Given the description of an element on the screen output the (x, y) to click on. 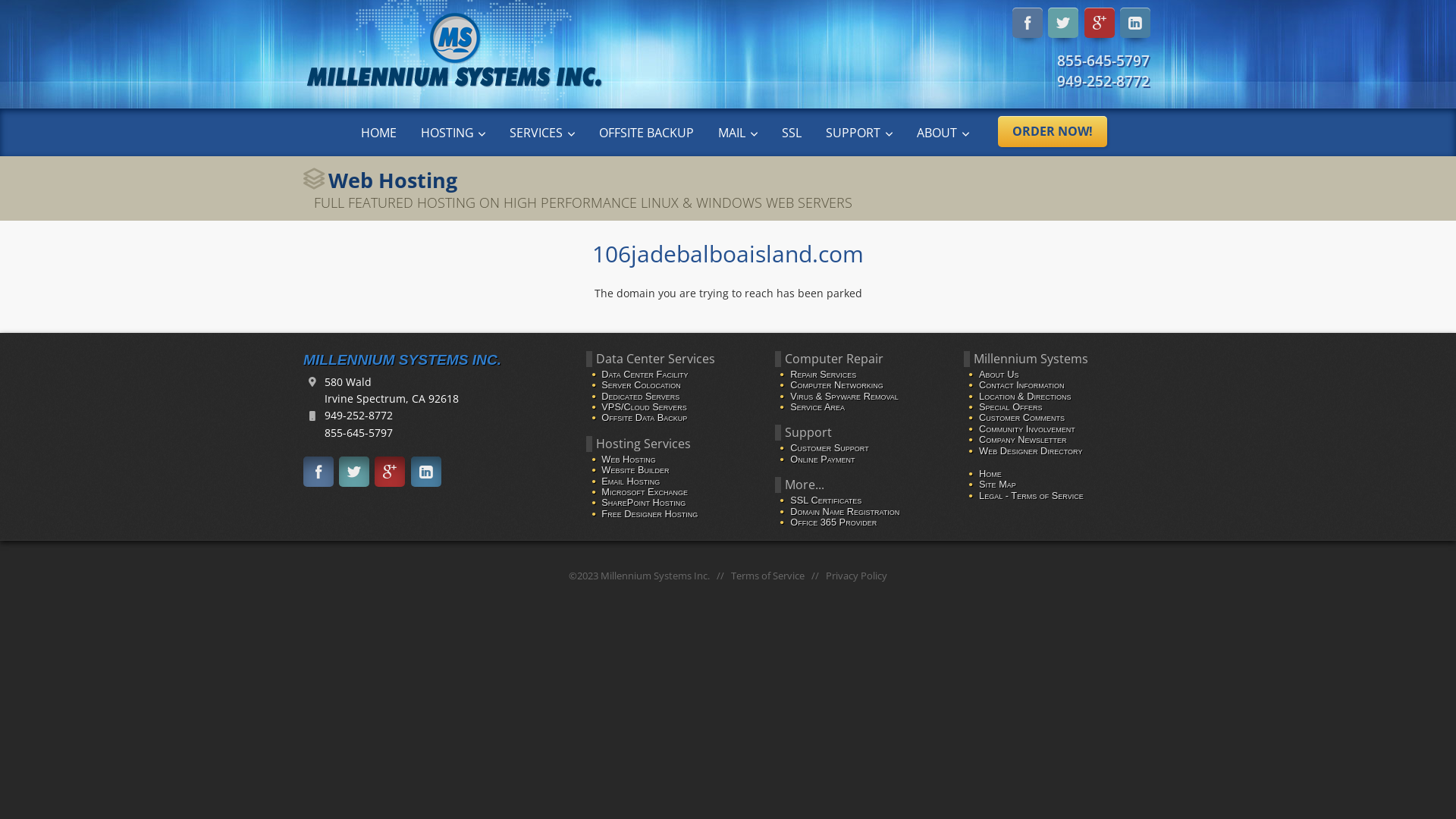
About Us Element type: text (998, 373)
Website Builder Element type: text (634, 469)
Customer Support Element type: text (829, 447)
Domain Name Registration Element type: text (844, 511)
Terms of Service Element type: text (767, 575)
Contact Information Element type: text (1021, 384)
Site Map Element type: text (997, 483)
Offsite Data Backup Element type: text (644, 417)
Dedicated Servers Element type: text (640, 395)
ORDER NOW! Element type: text (1052, 131)
Free Designer Hosting Element type: text (649, 513)
ABOUT Element type: text (942, 132)
SUPPORT Element type: text (858, 132)
Company Newsletter Element type: text (1022, 439)
MAIL Element type: text (737, 132)
Office 365 Provider Element type: text (833, 521)
Server Colocation Element type: text (640, 384)
Data Center Facility Element type: text (644, 373)
Computer Networking Element type: text (836, 384)
Web Hosting Element type: text (628, 458)
HOSTING Element type: text (453, 132)
OFFSITE BACKUP Element type: text (646, 132)
HOME Element type: text (378, 132)
SharePoint Hosting Element type: text (643, 502)
Legal - Terms of Service Element type: text (1031, 495)
Privacy Policy Element type: text (856, 575)
Virus & Spyware Removal Element type: text (844, 395)
Special Offers Element type: text (1010, 406)
VPS/Cloud Servers Element type: text (643, 406)
SSL Element type: text (791, 132)
Web Designer Directory Element type: text (1030, 450)
Repair Services Element type: text (823, 373)
Online Payment Element type: text (822, 458)
Email Hosting Element type: text (630, 480)
Home Element type: text (990, 473)
Service Area Element type: text (817, 406)
SERVICES Element type: text (541, 132)
Microsoft Exchange Element type: text (644, 491)
Customer Comments Element type: text (1021, 417)
Location & Directions Element type: text (1024, 395)
Community Involvement Element type: text (1027, 428)
SSL Certificates Element type: text (825, 499)
